Given the description of an element on the screen output the (x, y) to click on. 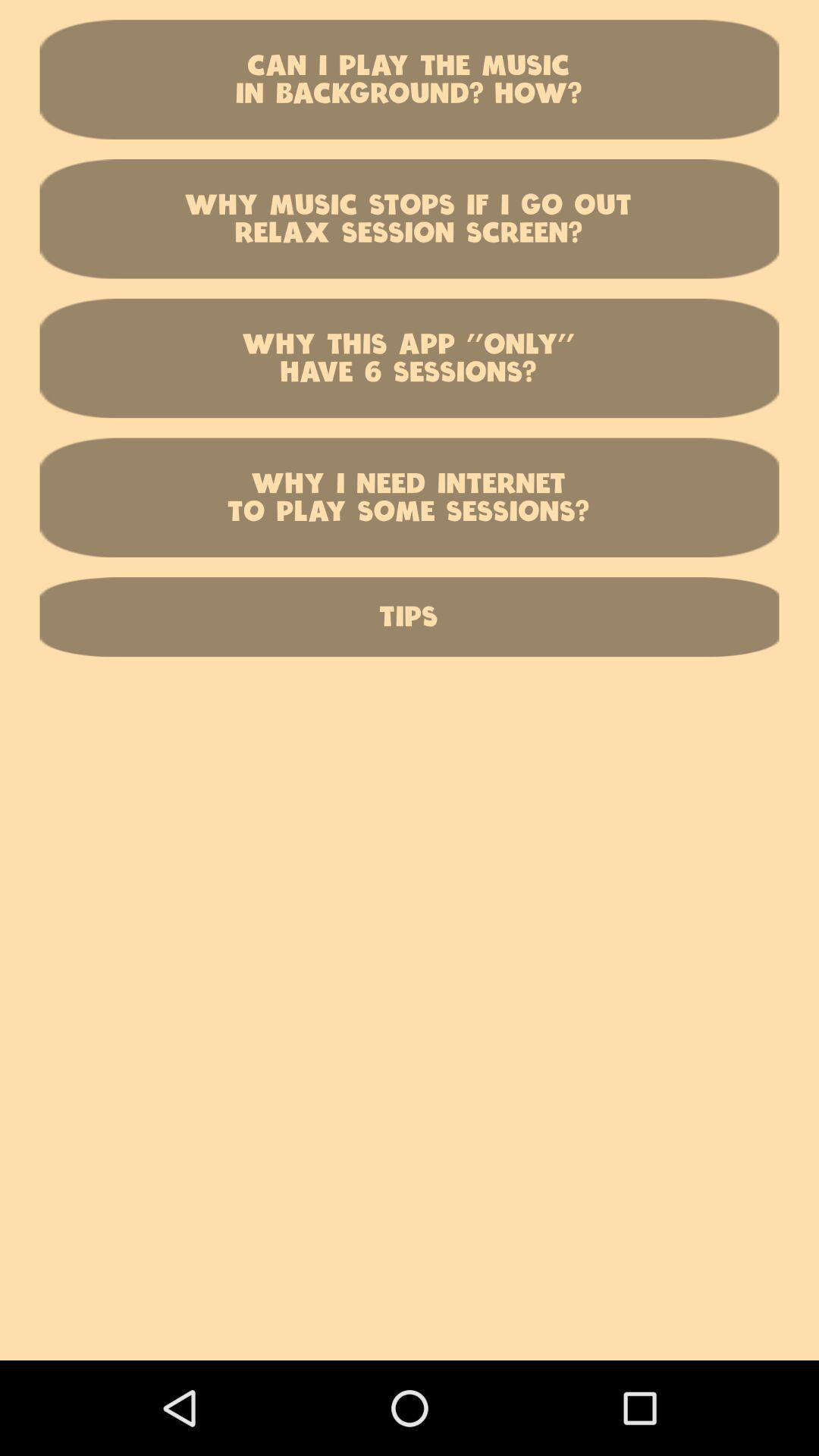
press the item above why this app button (409, 218)
